Given the description of an element on the screen output the (x, y) to click on. 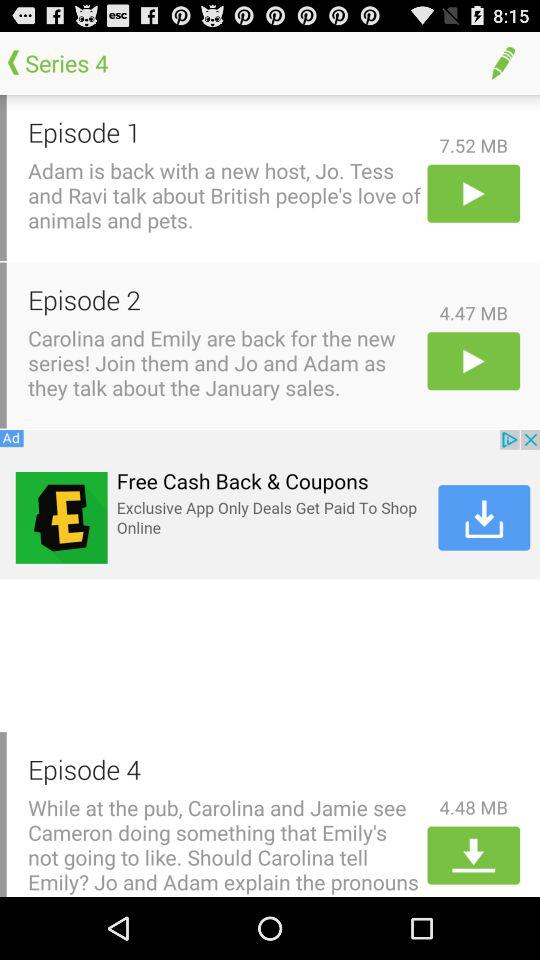
play video (473, 360)
